Given the description of an element on the screen output the (x, y) to click on. 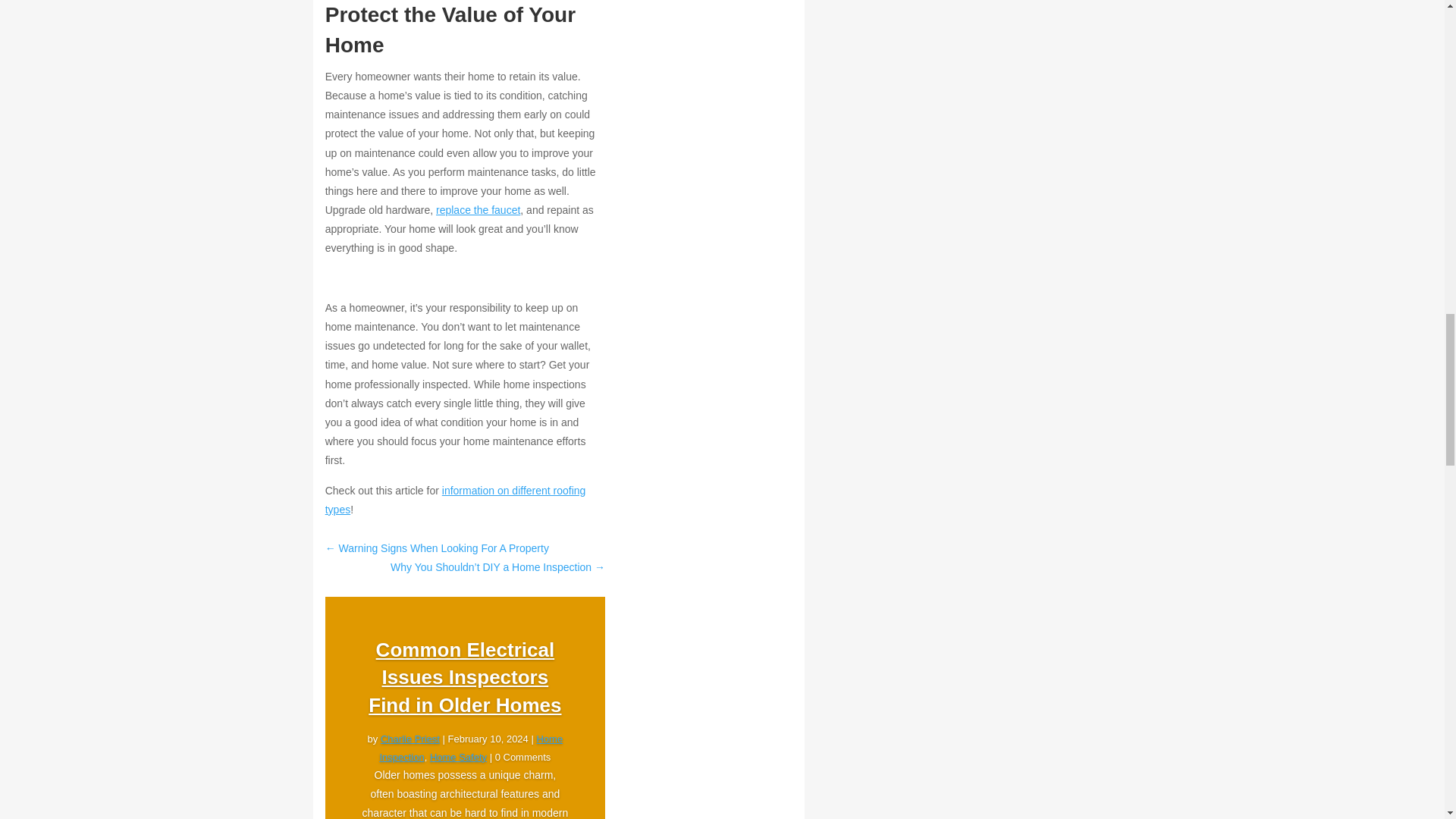
Home Safety (457, 756)
Posts by Charlie Priest (409, 738)
Home Inspection (470, 747)
information on different roofing types (455, 499)
Charlie Priest (409, 738)
Common Electrical Issues Inspectors Find in Older Homes (464, 677)
replace the faucet (477, 209)
